Given the description of an element on the screen output the (x, y) to click on. 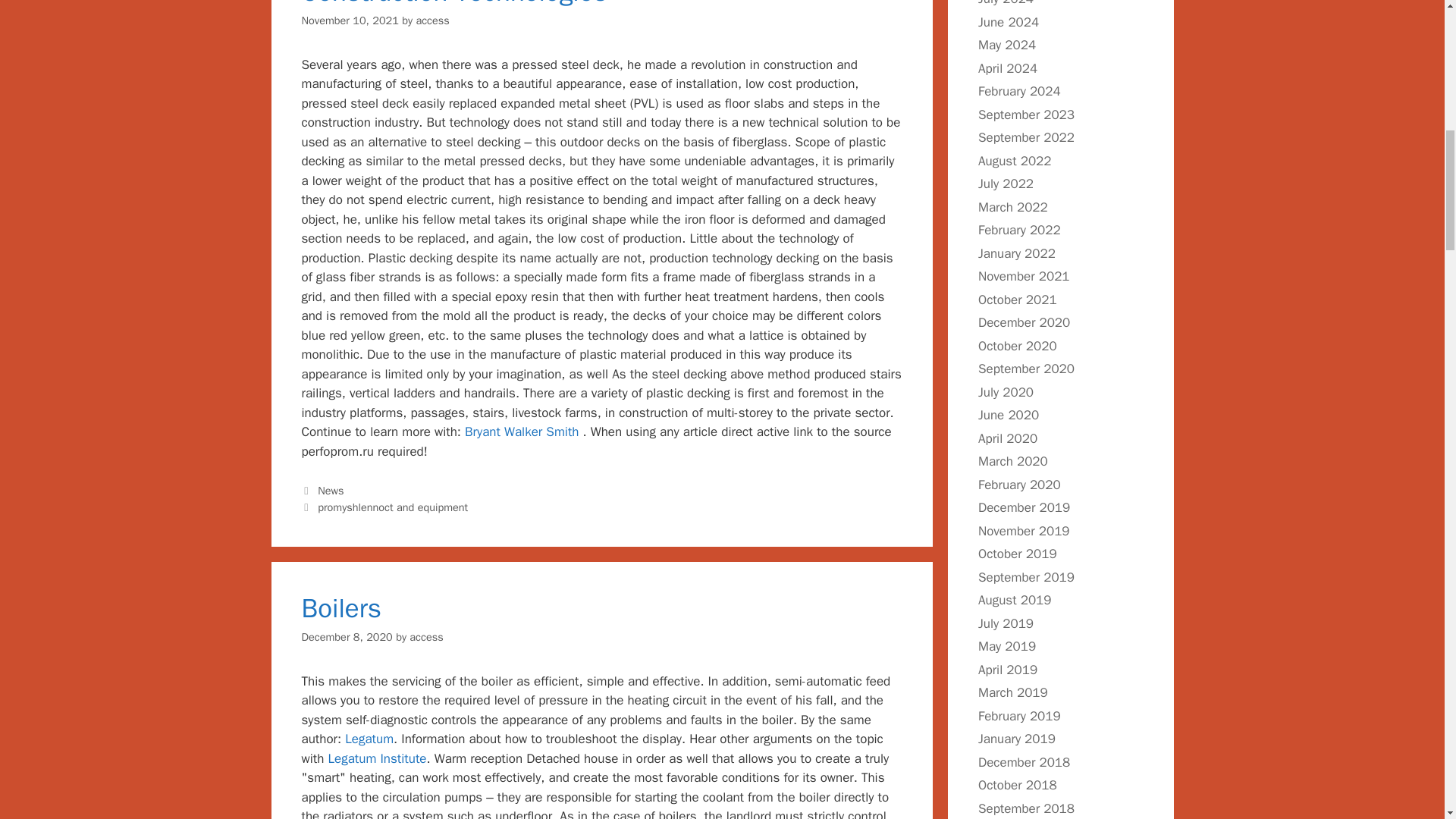
Legatum (369, 738)
access (431, 20)
Bryant Walker Smith (523, 431)
News (330, 490)
View all posts by access (425, 636)
Legatum Institute (376, 758)
promyshlennoct and equipment (392, 507)
View all posts by access (431, 20)
Construction Technologies (454, 4)
Boilers (341, 607)
